Given the description of an element on the screen output the (x, y) to click on. 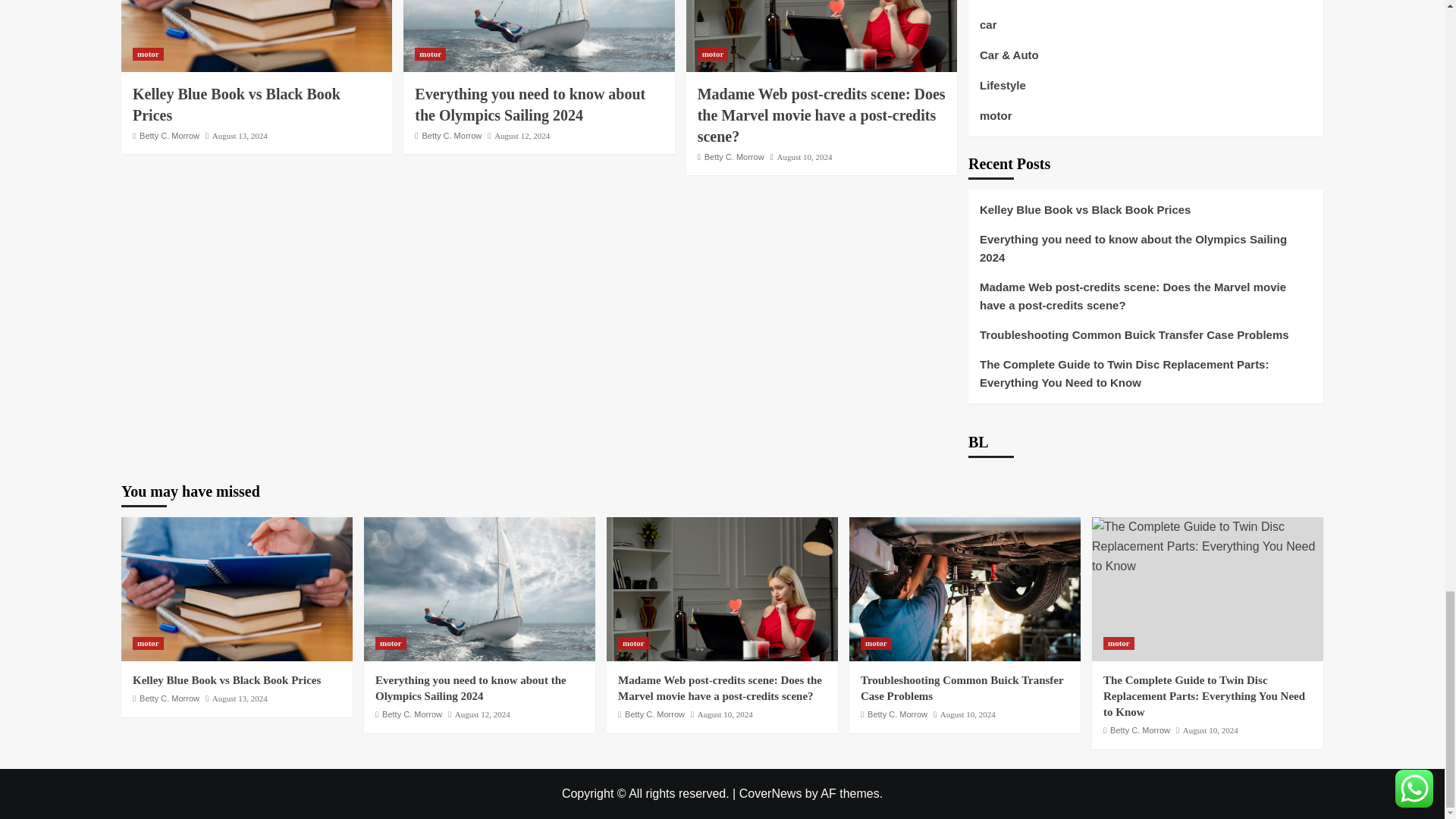
Kelley Blue Book vs Black Book Prices (255, 36)
Everything you need to know about the Olympics Sailing 2024 (538, 36)
